Given the description of an element on the screen output the (x, y) to click on. 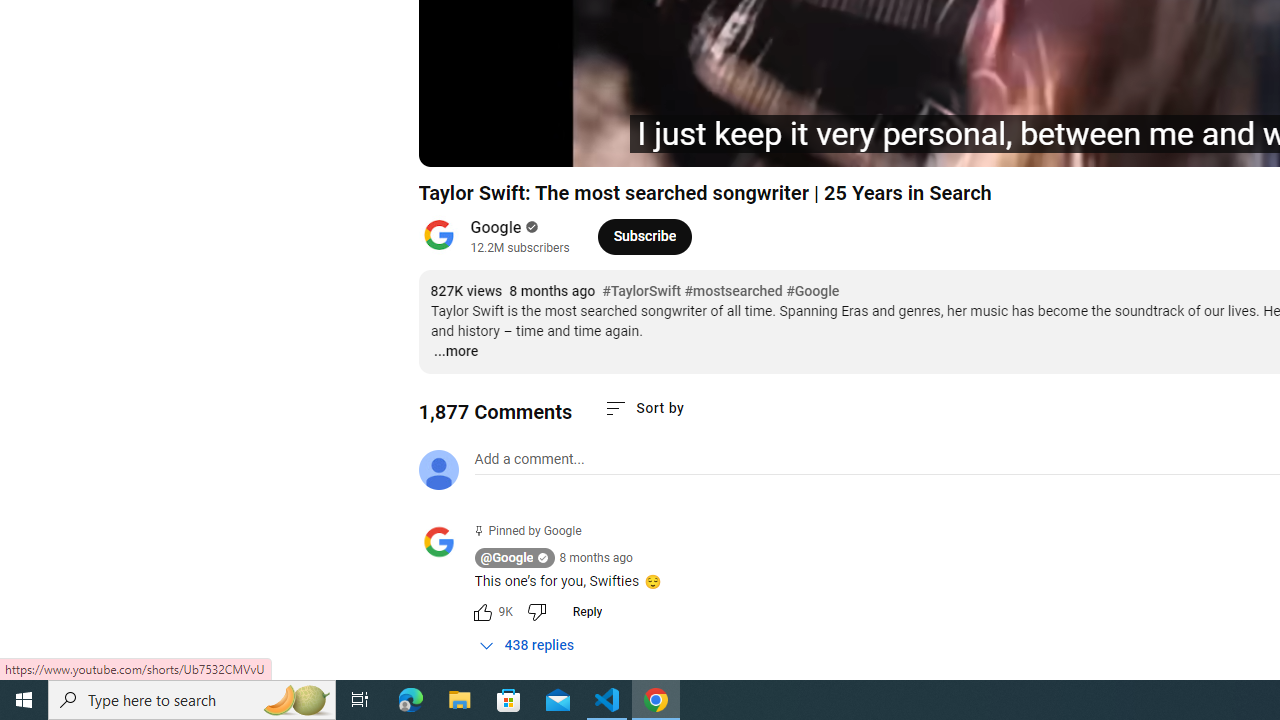
Sort comments (644, 408)
#TaylorSwift (641, 291)
#Google (812, 291)
Default profile photo (438, 470)
AutomationID: simplebox-placeholder (528, 459)
Subscribe to Google. (644, 236)
Next (SHIFT+n) (500, 142)
@Google (506, 557)
...more (454, 352)
Pause (k) (453, 142)
Dislike this comment (535, 611)
Reply (587, 611)
@Google (446, 543)
8 months ago (596, 557)
